Given the description of an element on the screen output the (x, y) to click on. 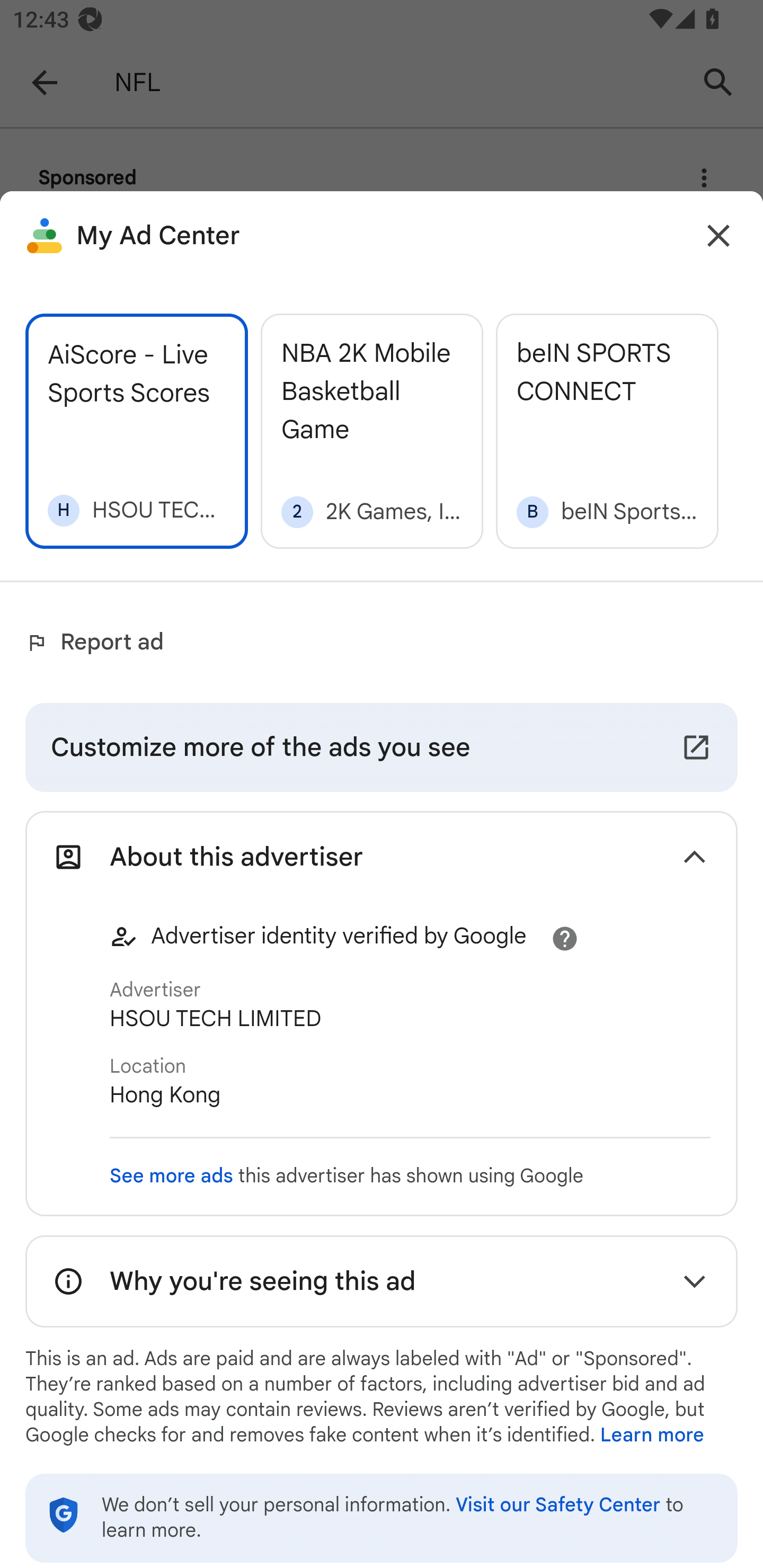
Close (718, 235)
Report ad (opens in new tab) Report ad (98, 642)
About this advertiser (381, 856)
See more ads (opens in new tab) See more ads (171, 1175)
Why you're seeing this ad (381, 1281)
Learn more (opens in new tab) Learn more (651, 1435)
